Given the description of an element on the screen output the (x, y) to click on. 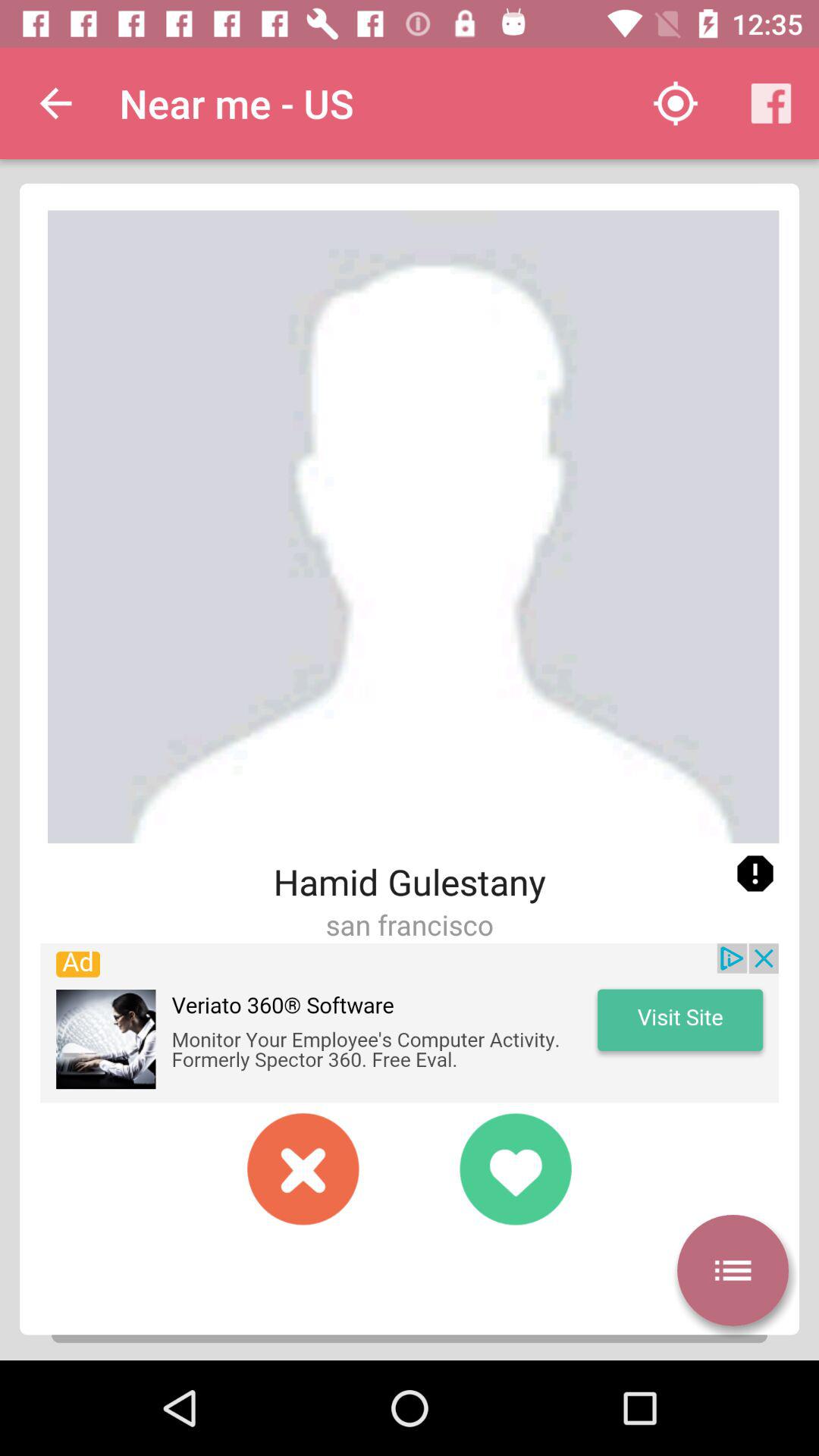
toggle autoplay option (733, 1270)
